Given the description of an element on the screen output the (x, y) to click on. 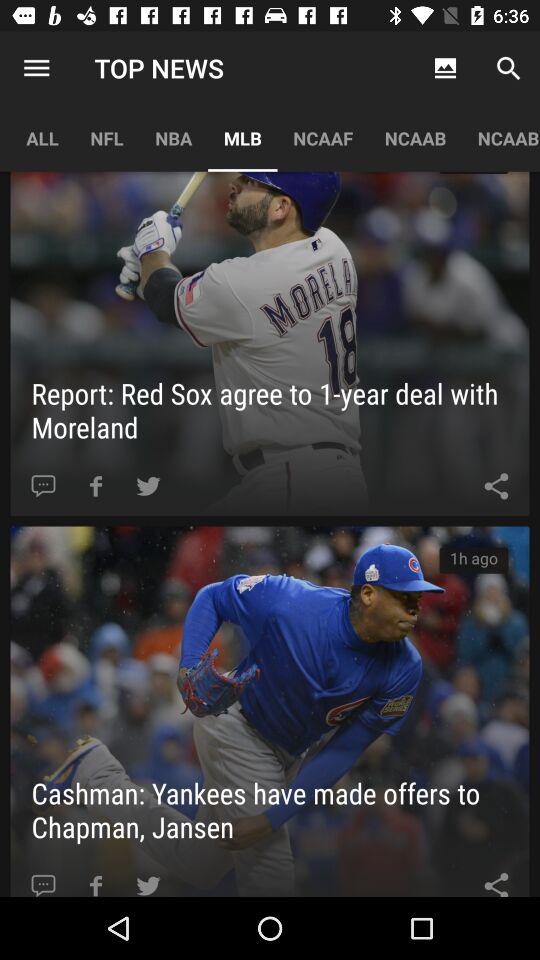
turn off icon next to mlb app (173, 138)
